Given the description of an element on the screen output the (x, y) to click on. 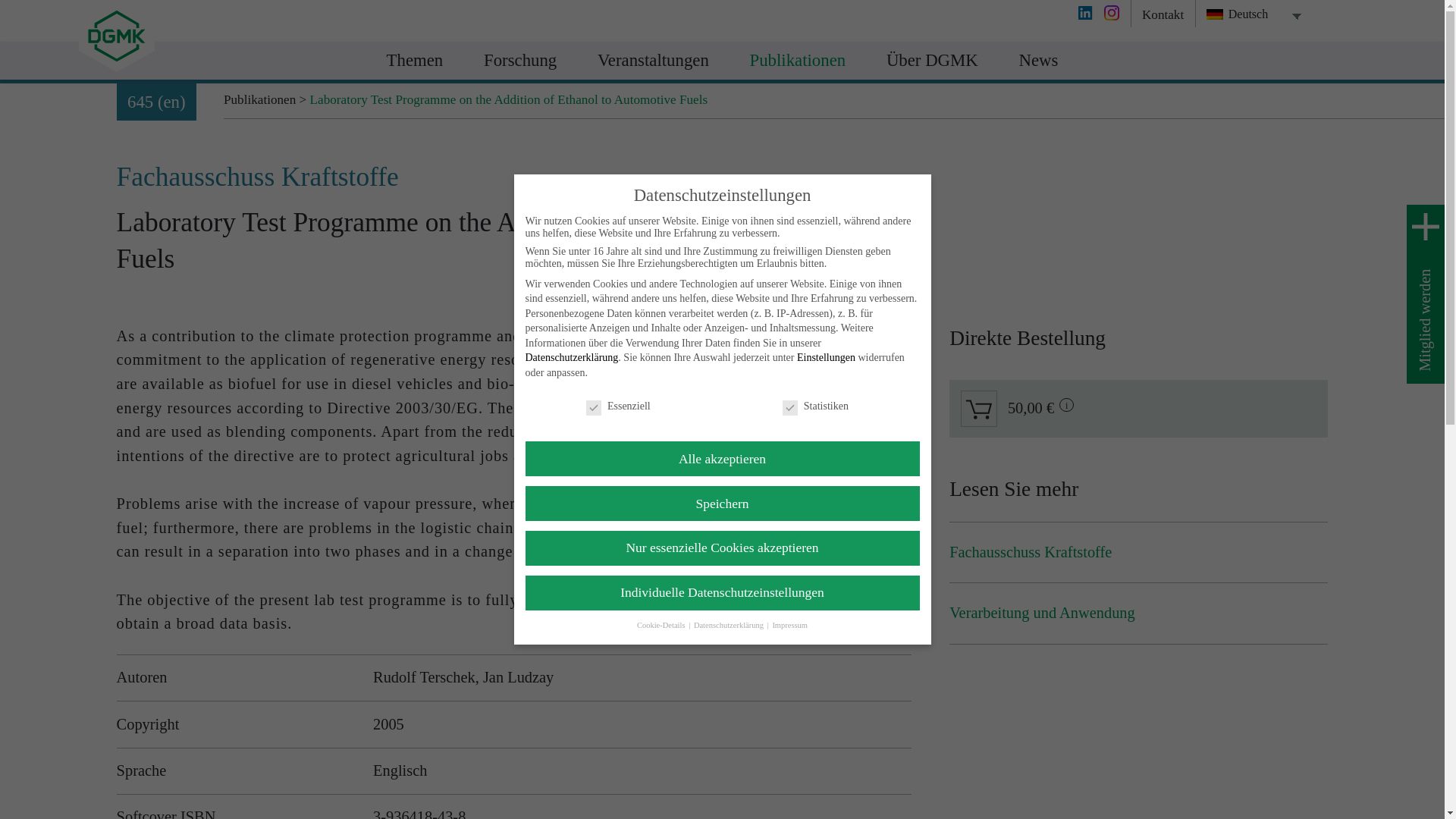
Go to Publikationen. (259, 99)
Deutsch (1215, 14)
Deutsch (1247, 14)
